Given the description of an element on the screen output the (x, y) to click on. 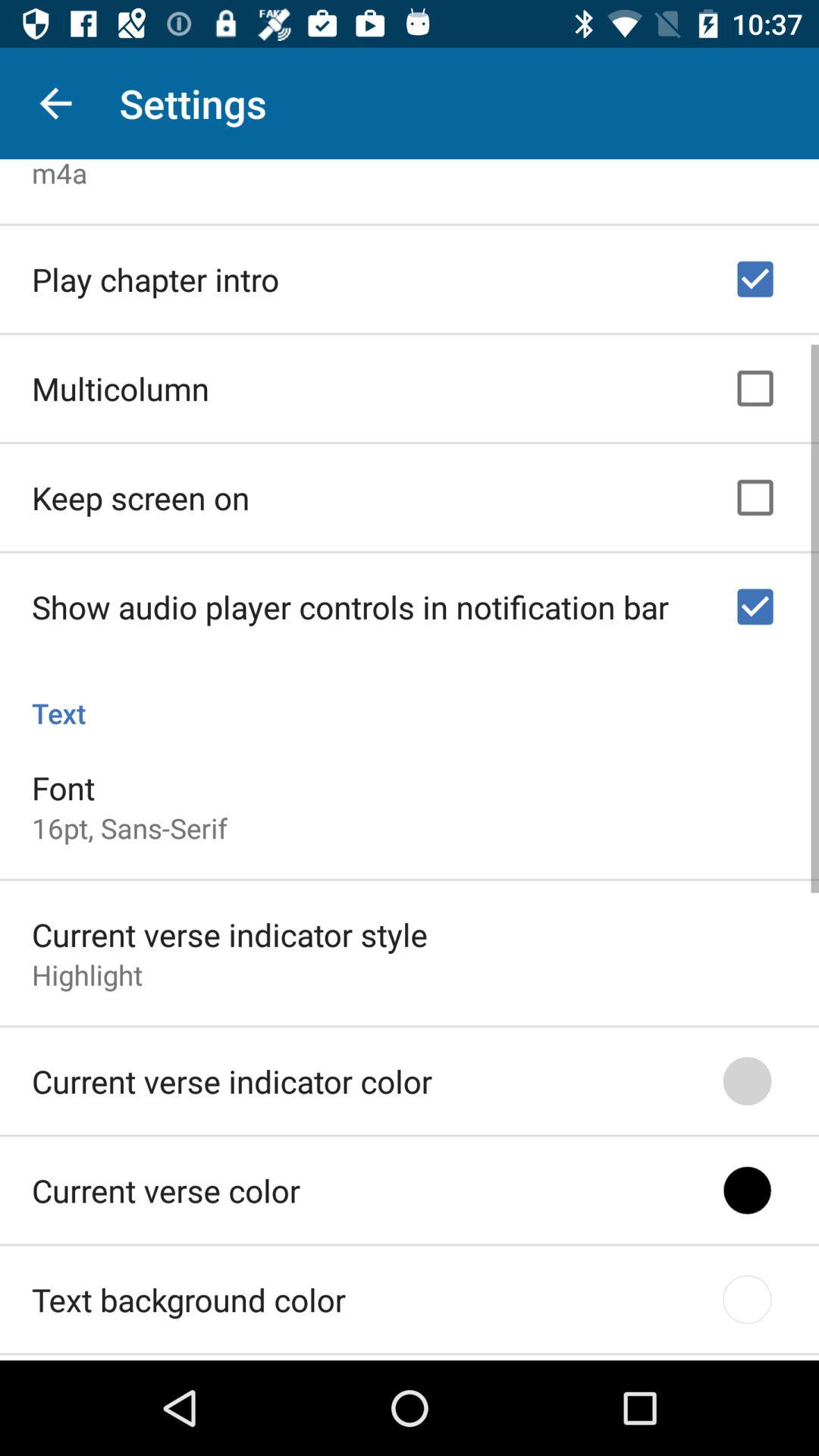
select m4a (59, 173)
